Given the description of an element on the screen output the (x, y) to click on. 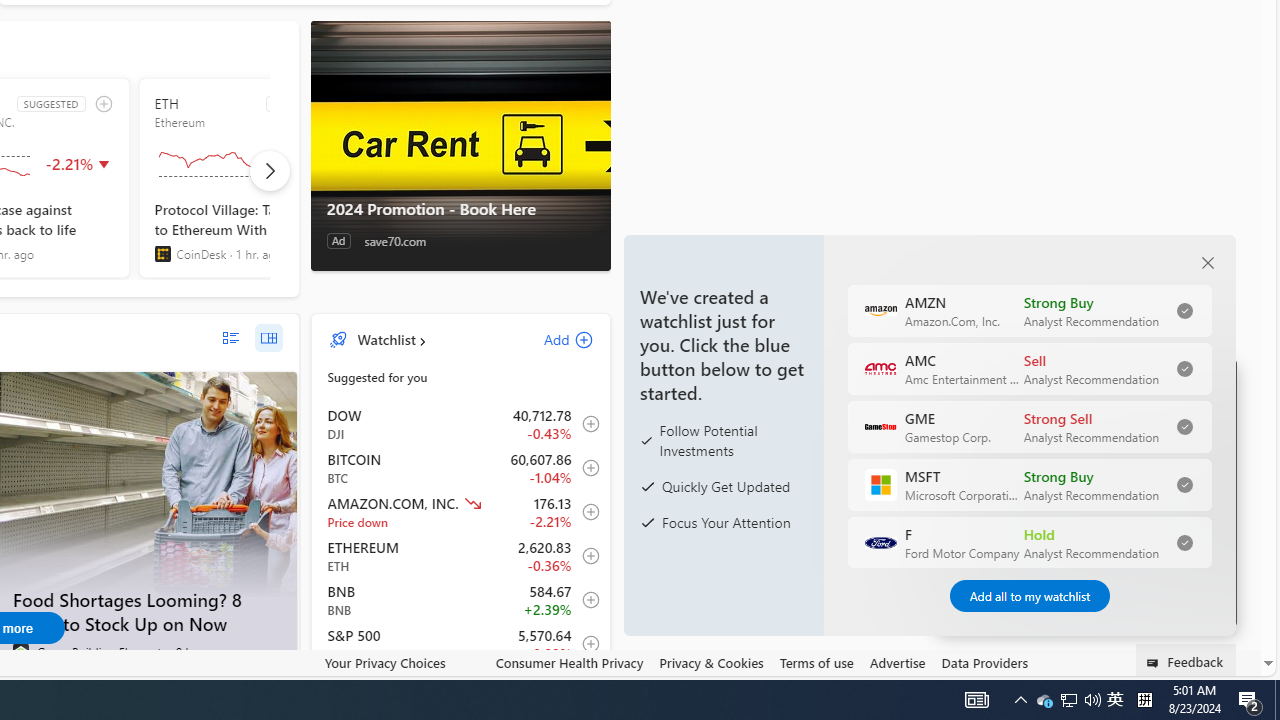
Class: feedback_link_icon-DS-EntryPoint1-1 (1156, 663)
Watchlist (386, 339)
Advertise (897, 663)
Add (551, 339)
Terms of use (816, 662)
BNB BNB increase 584.67 +13.99 +2.39% item4 (461, 600)
Advertise (897, 662)
DJI DOW decrease 40,712.78 -177.71 -0.43% item0 (461, 423)
grid layout (267, 338)
Ad (338, 241)
CoinDesk (162, 254)
Data Providers (983, 662)
